Given the description of an element on the screen output the (x, y) to click on. 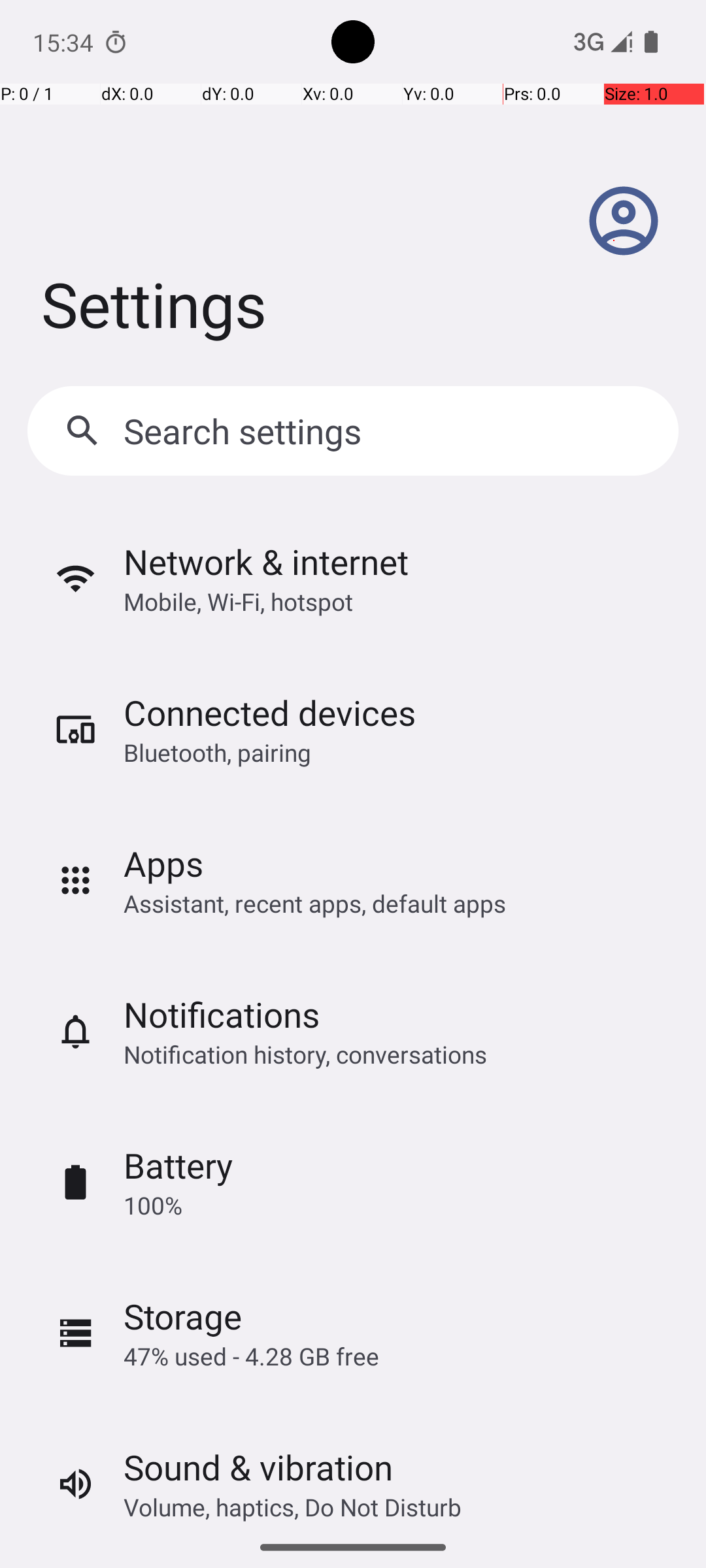
47% used - 4.28 GB free Element type: android.widget.TextView (251, 1355)
